Given the description of an element on the screen output the (x, y) to click on. 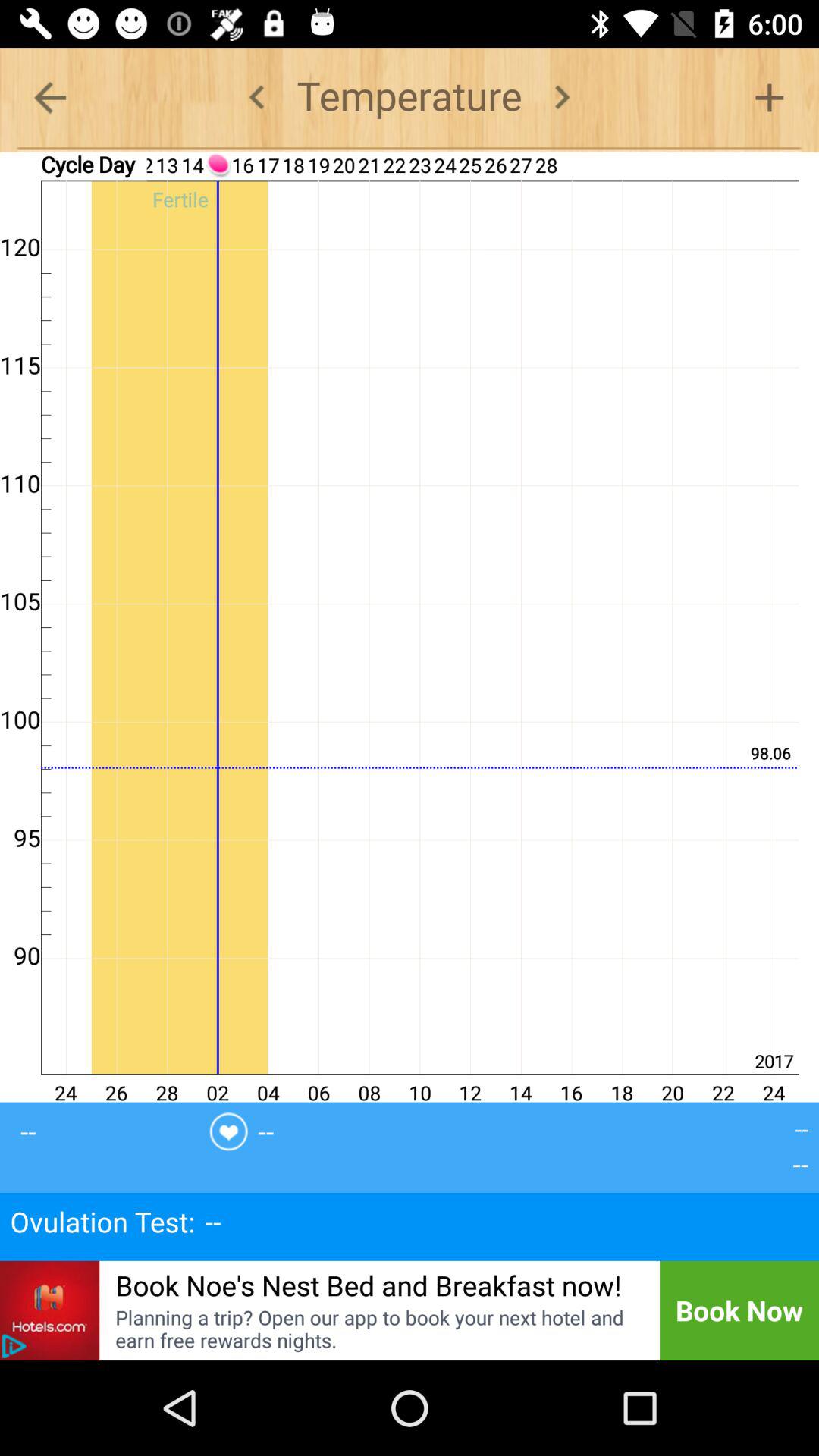
click the icon next to planning a trip icon (14, 1346)
